Given the description of an element on the screen output the (x, y) to click on. 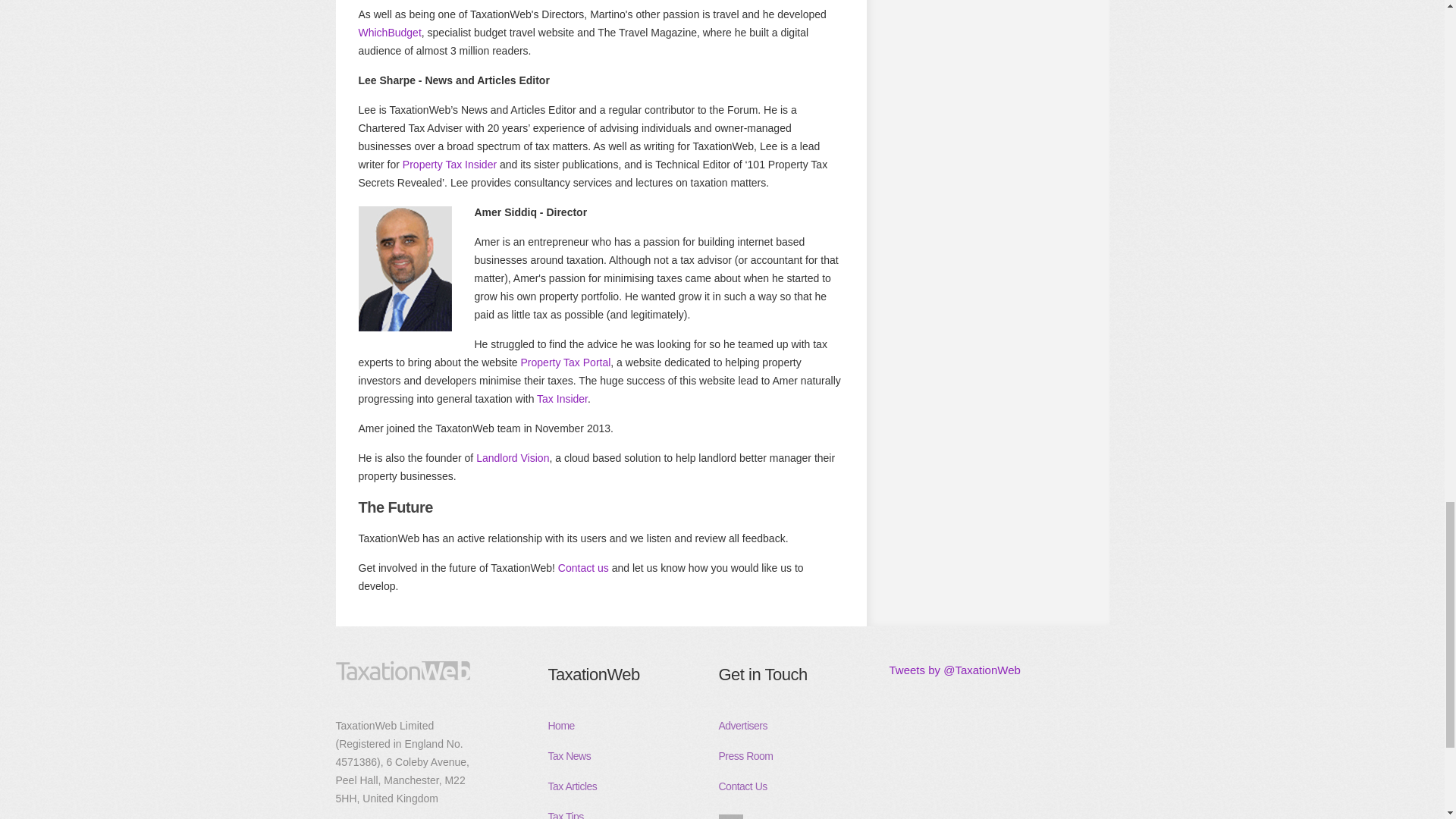
Tax Insider (562, 398)
